Given the description of an element on the screen output the (x, y) to click on. 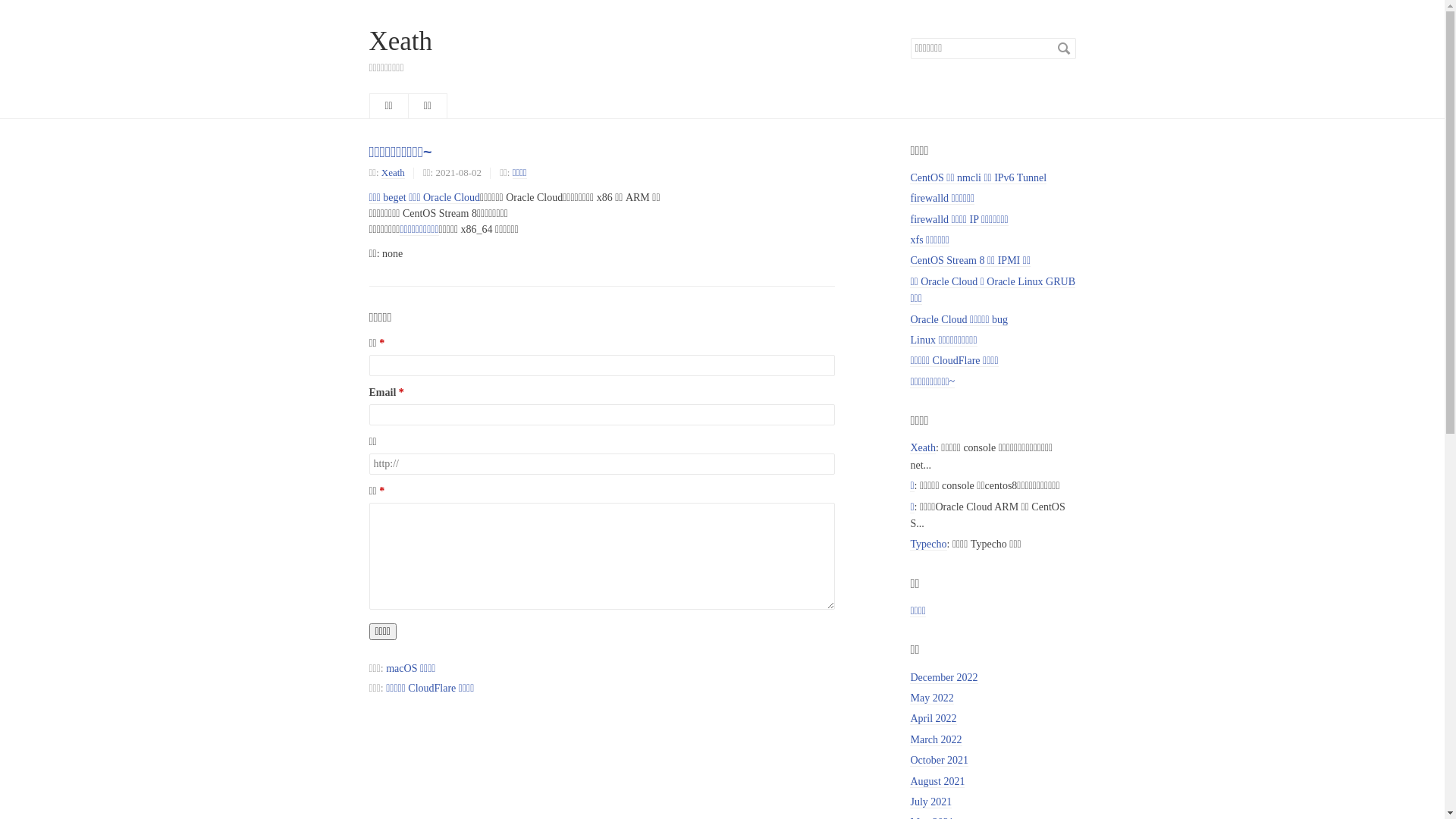
Xeath Element type: text (392, 172)
May 2022 Element type: text (931, 698)
April 2022 Element type: text (933, 718)
Xeath Element type: text (922, 448)
Xeath Element type: text (400, 41)
March 2022 Element type: text (935, 740)
July 2021 Element type: text (930, 802)
October 2021 Element type: text (939, 760)
December 2022 Element type: text (943, 677)
Typecho Element type: text (928, 544)
August 2021 Element type: text (937, 781)
